Given the description of an element on the screen output the (x, y) to click on. 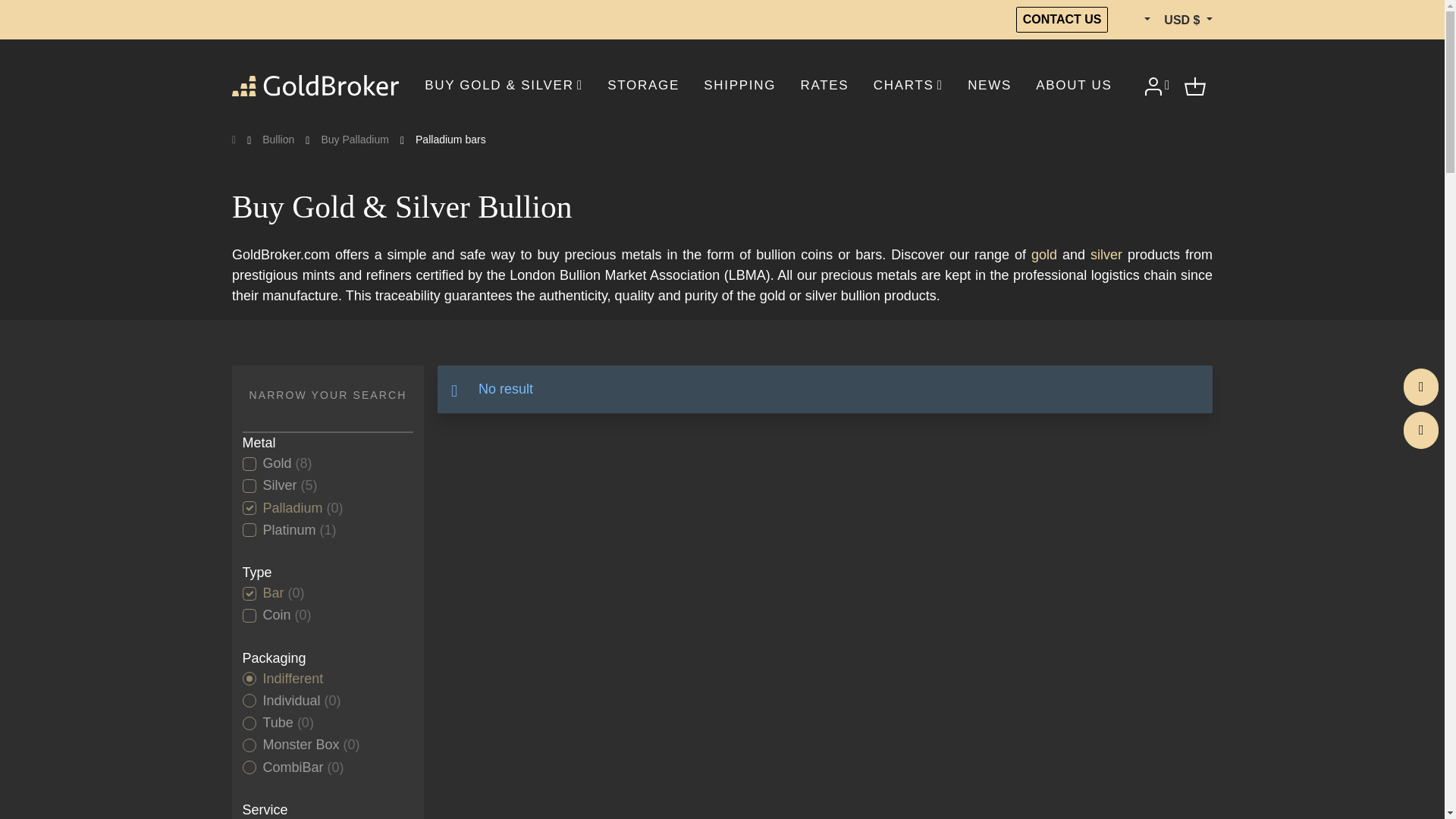
ABOUT US (1073, 85)
US Dollar (1187, 19)
1 (249, 463)
1 (249, 700)
4 (249, 530)
SHIPPING (740, 85)
Cart (1194, 85)
STORAGE (642, 85)
3 (249, 745)
English (1135, 19)
